Given the description of an element on the screen output the (x, y) to click on. 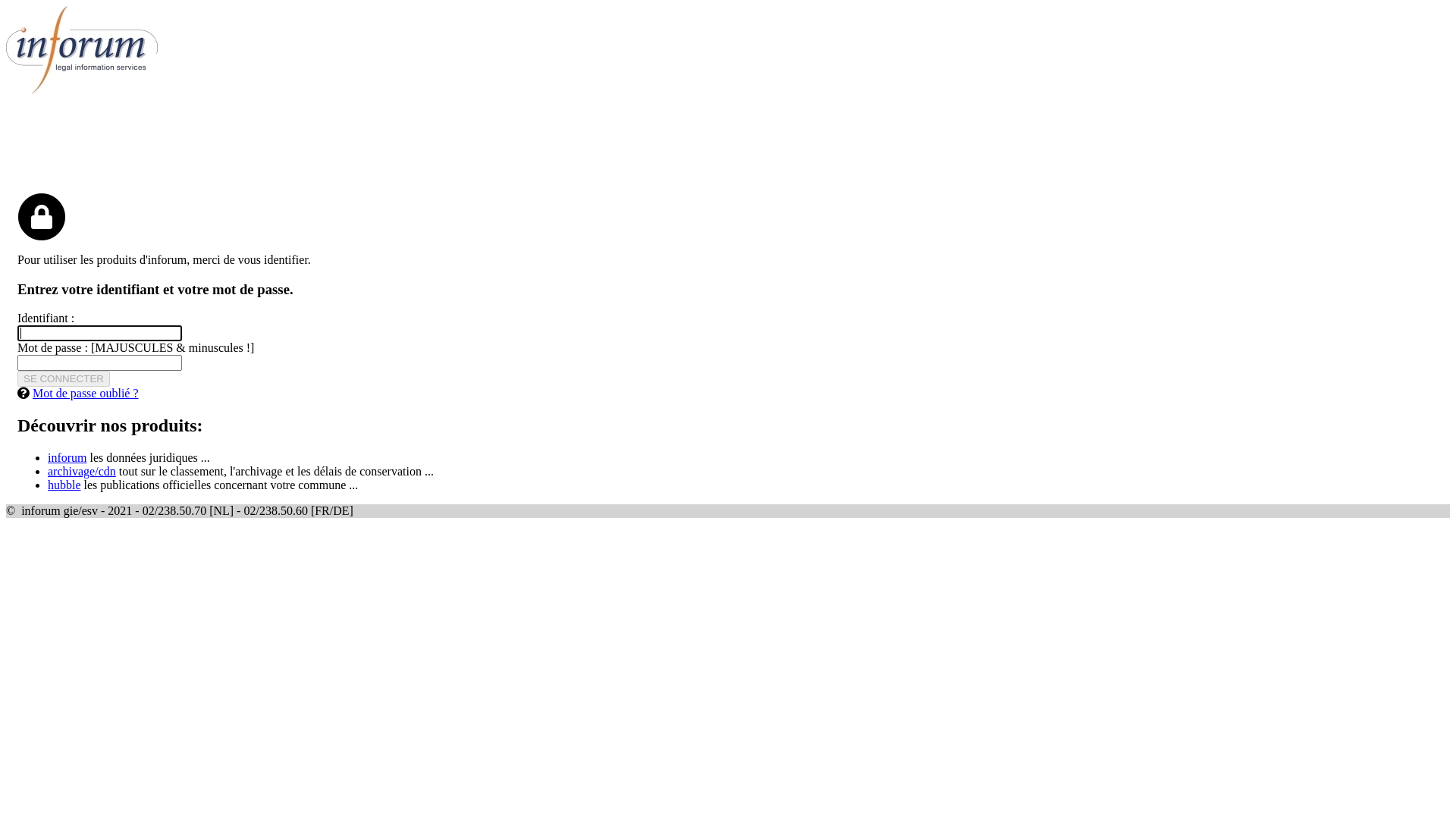
inforum Element type: text (67, 457)
SE CONNECTER Element type: text (63, 378)
archivage/cdn Element type: text (81, 470)
hubble Element type: text (64, 484)
